Given the description of an element on the screen output the (x, y) to click on. 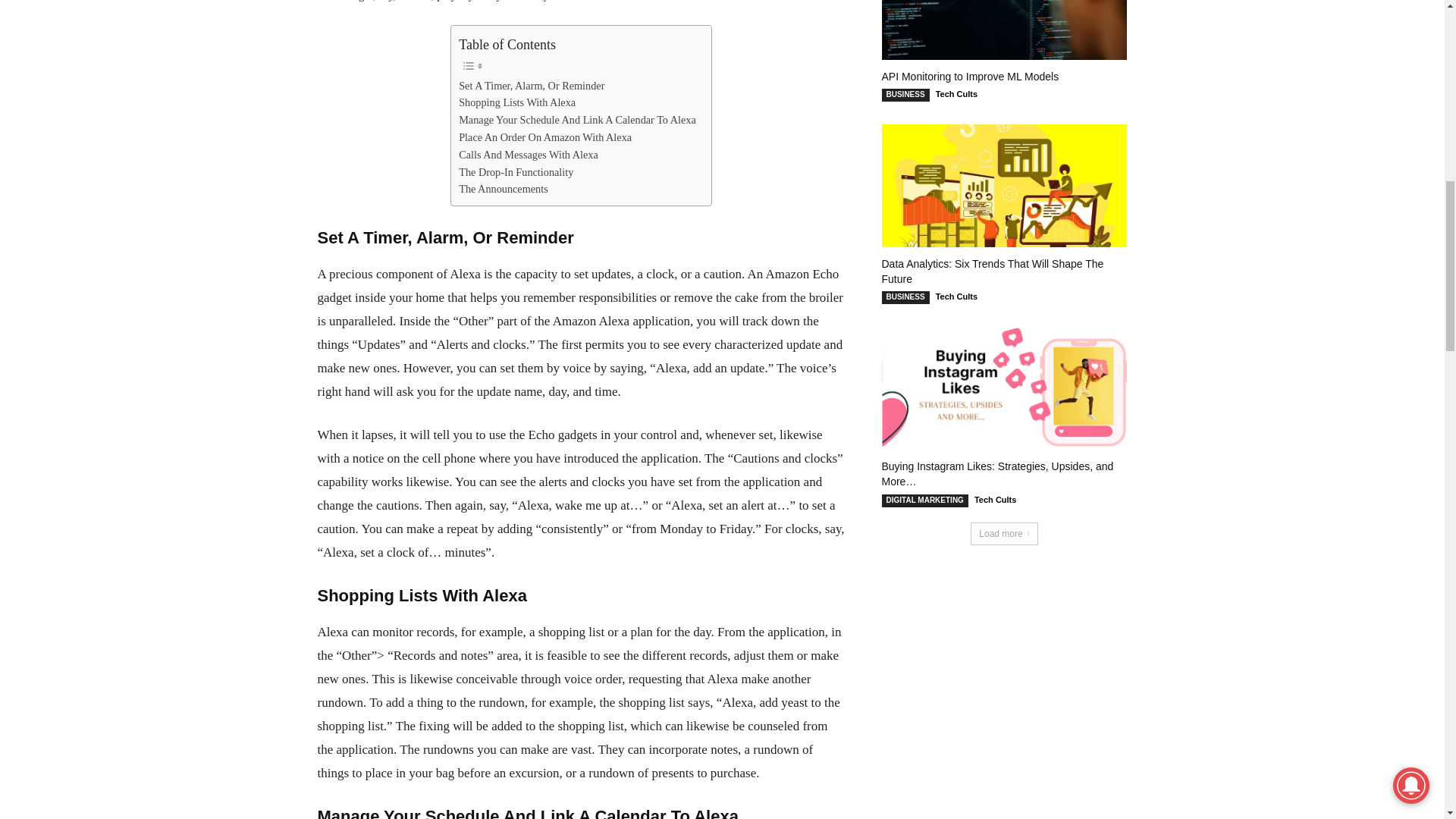
Place An Order On Amazon With Alexa (544, 137)
Set A Timer, Alarm, Or Reminder (531, 85)
Shopping Lists With Alexa (516, 102)
Manage Your Schedule And Link A Calendar To Alexa (576, 119)
